Given the description of an element on the screen output the (x, y) to click on. 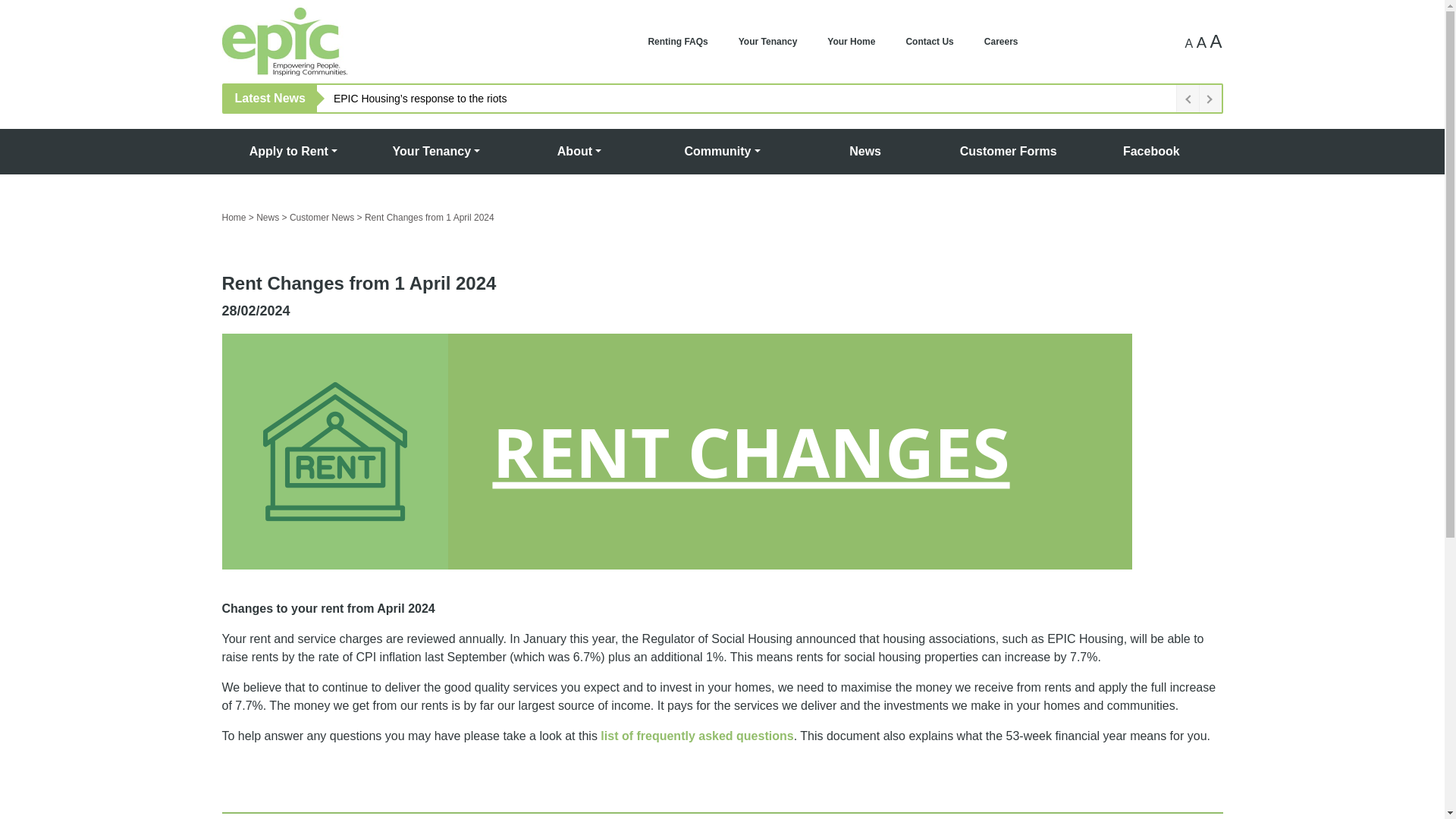
Contact Us (928, 41)
Your Tenancy (767, 41)
Careers (1001, 41)
Apply to Rent (293, 151)
Renting FAQs (676, 41)
Your Home (850, 41)
